Given the description of an element on the screen output the (x, y) to click on. 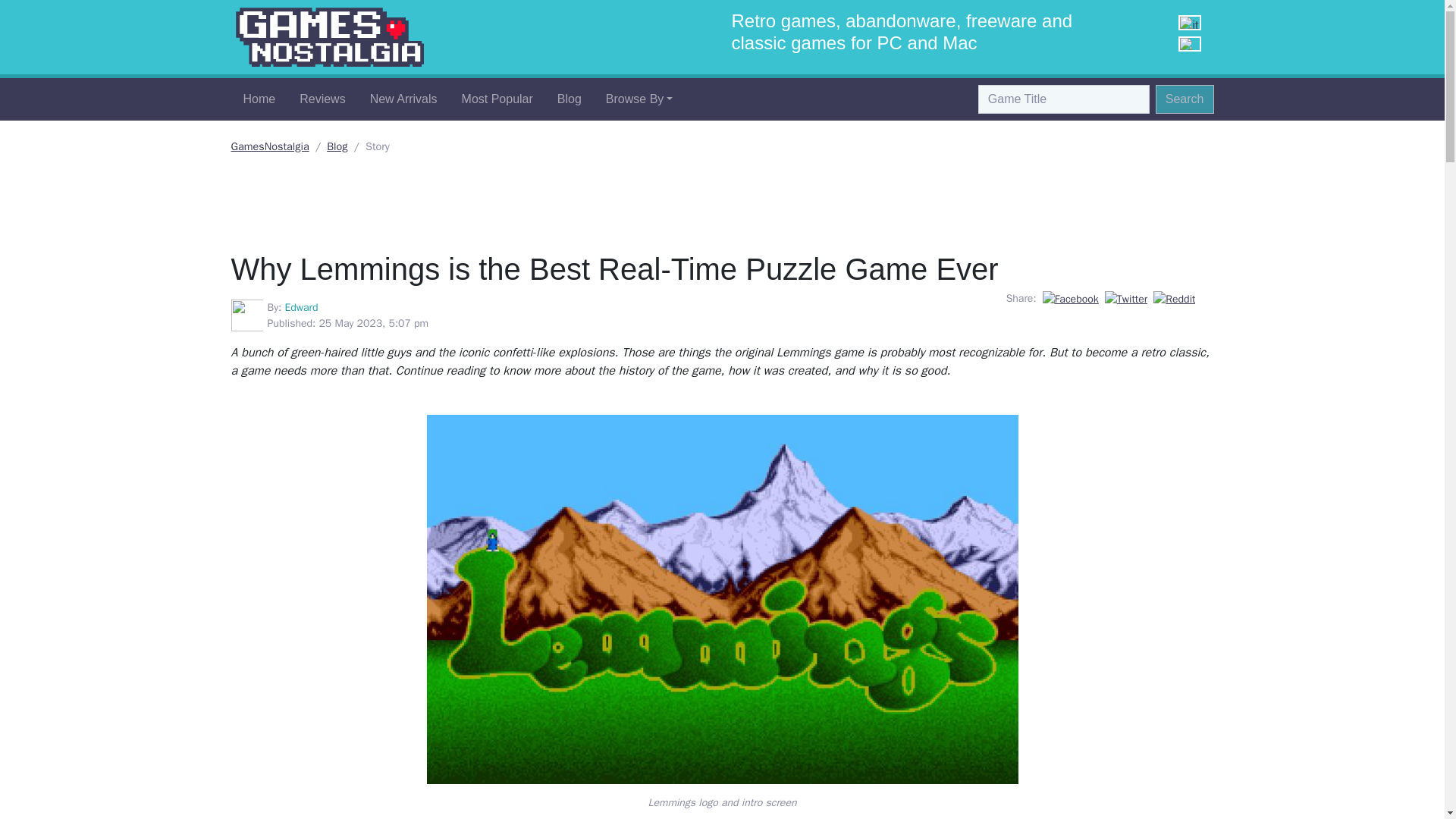
New Arrivals (403, 99)
GamesNostalgia (329, 37)
Home (258, 99)
Browse By (639, 99)
Search (1185, 99)
Blog (336, 146)
Share on Reddit (1174, 297)
Most Popular (496, 99)
Share on Twitter (1126, 297)
Share on Facebook (1070, 297)
